Given the description of an element on the screen output the (x, y) to click on. 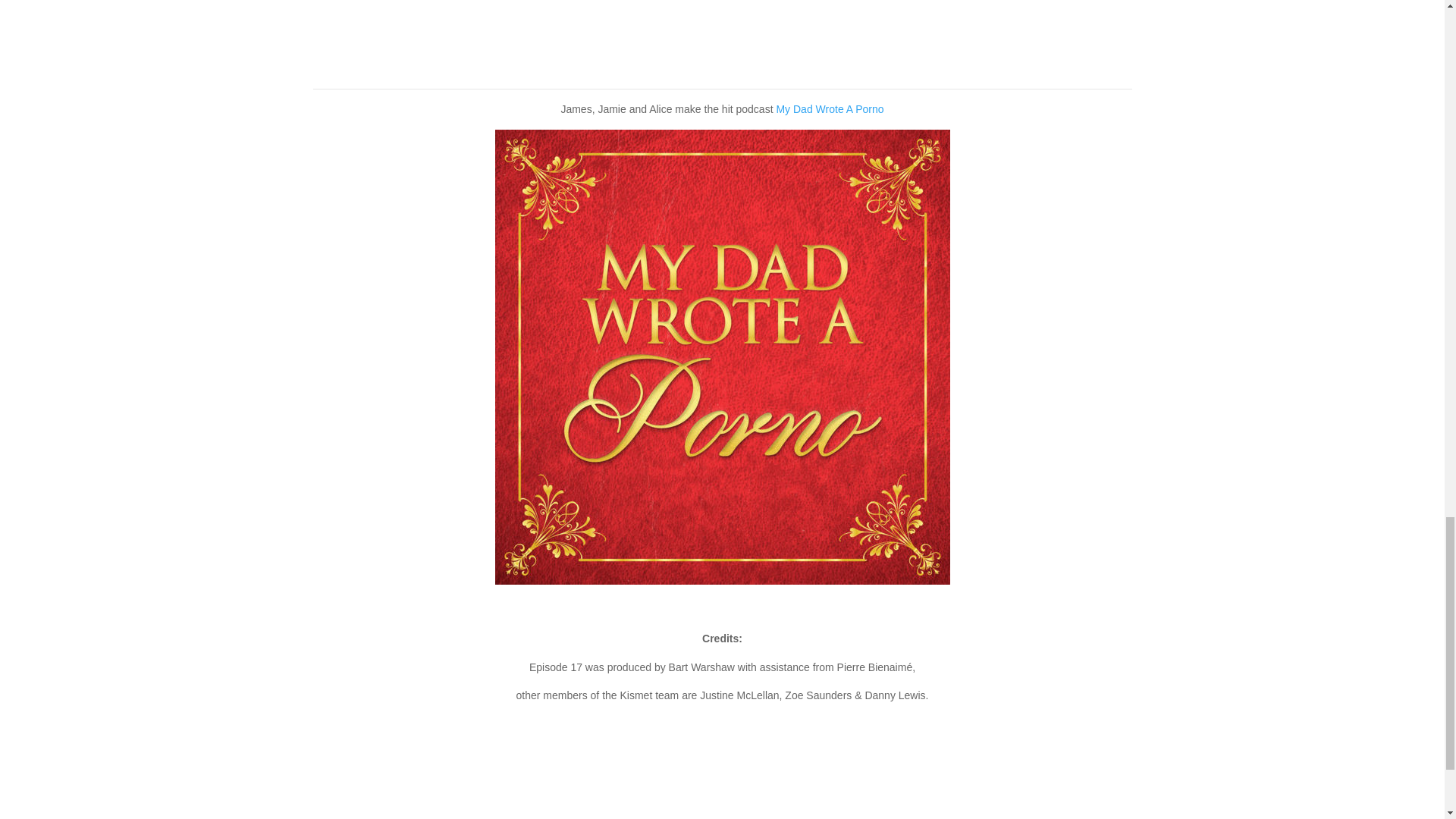
My Dad Wrote A Porno (829, 109)
